Given the description of an element on the screen output the (x, y) to click on. 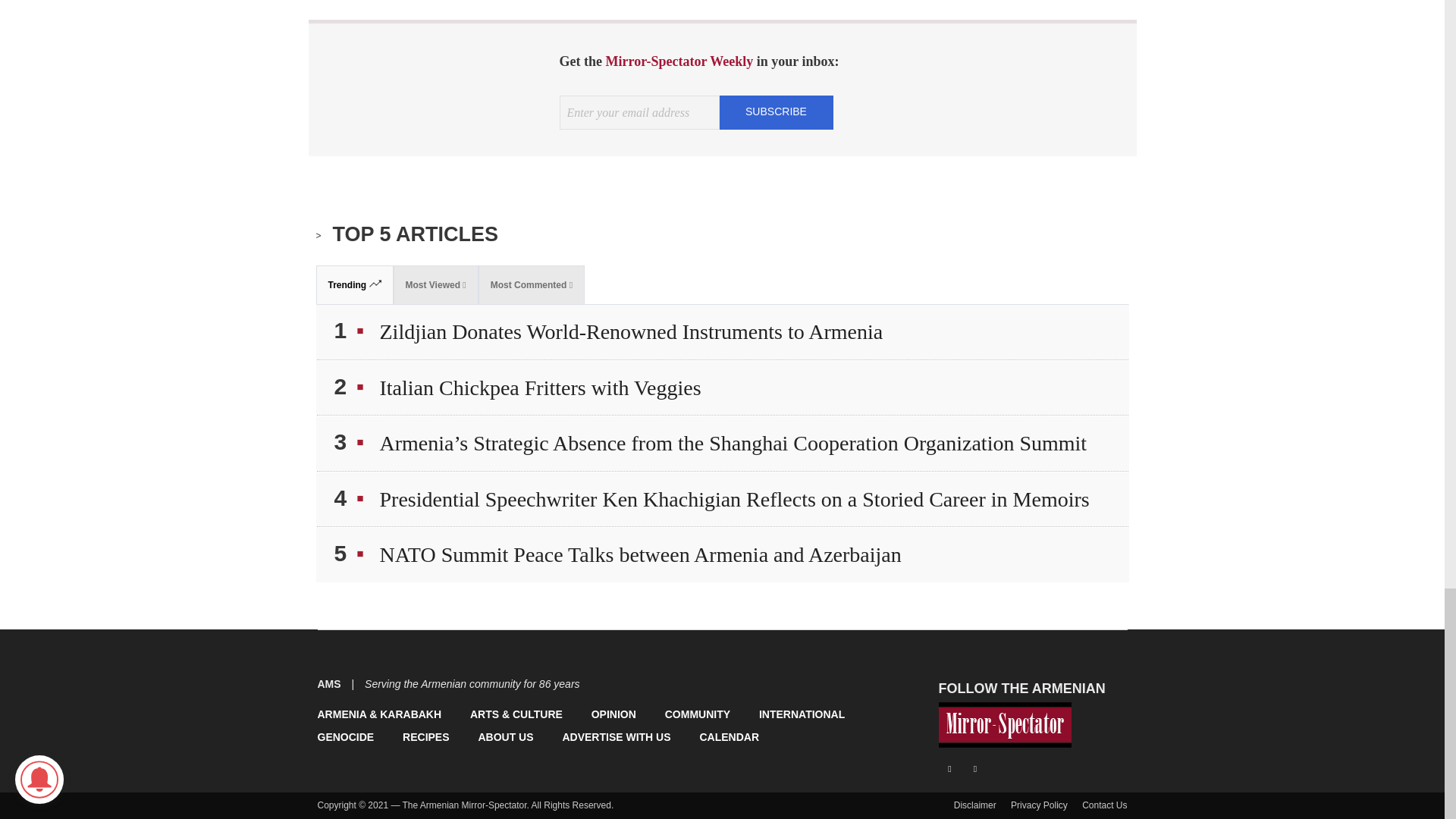
SUBSCRIBE (775, 111)
